Given the description of an element on the screen output the (x, y) to click on. 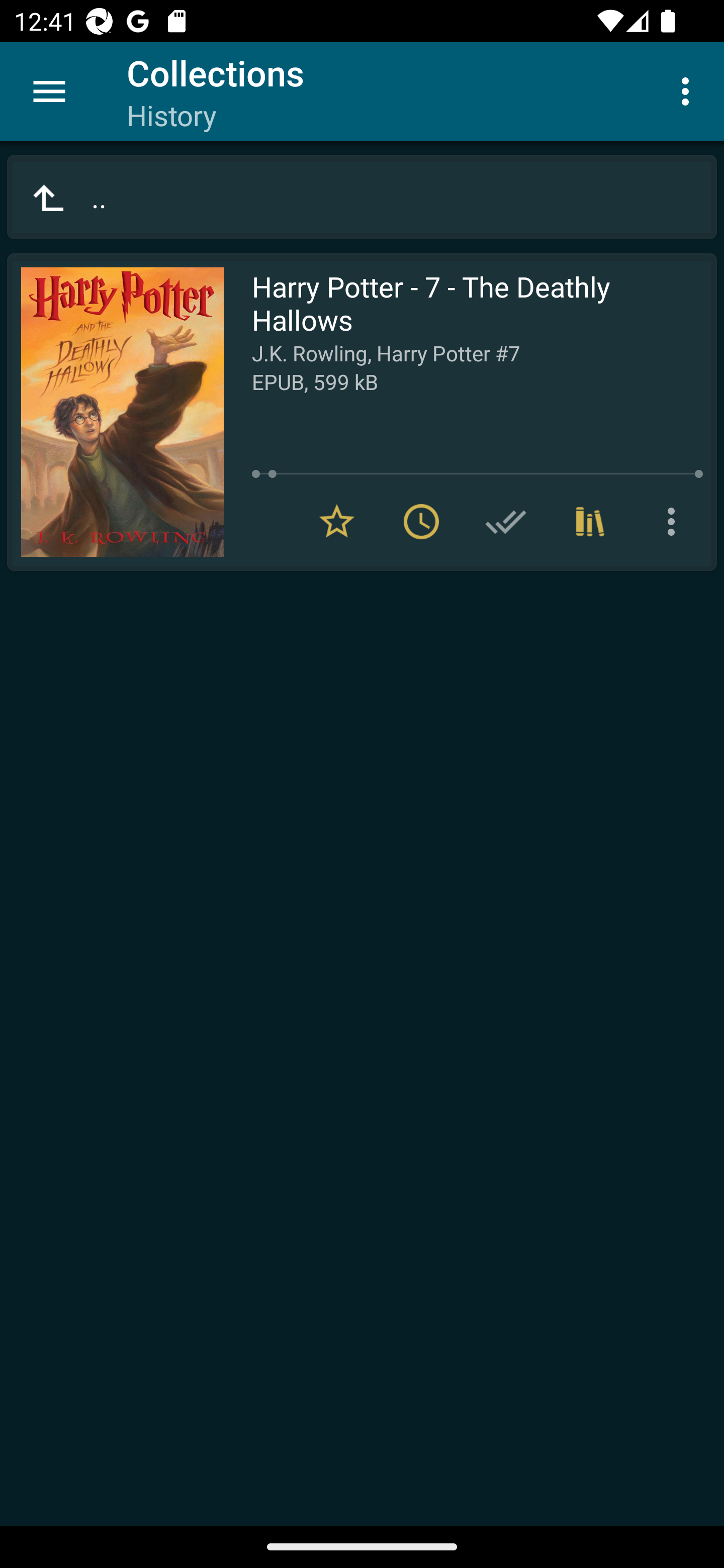
Menu (49, 91)
More options (688, 90)
.. (361, 197)
Read Harry Potter - 7 - The Deathly Hallows (115, 412)
Remove from Favorites (336, 521)
Remove from To read (421, 521)
Add to Have read (505, 521)
Collections (3) (590, 521)
More options (674, 521)
